Given the description of an element on the screen output the (x, y) to click on. 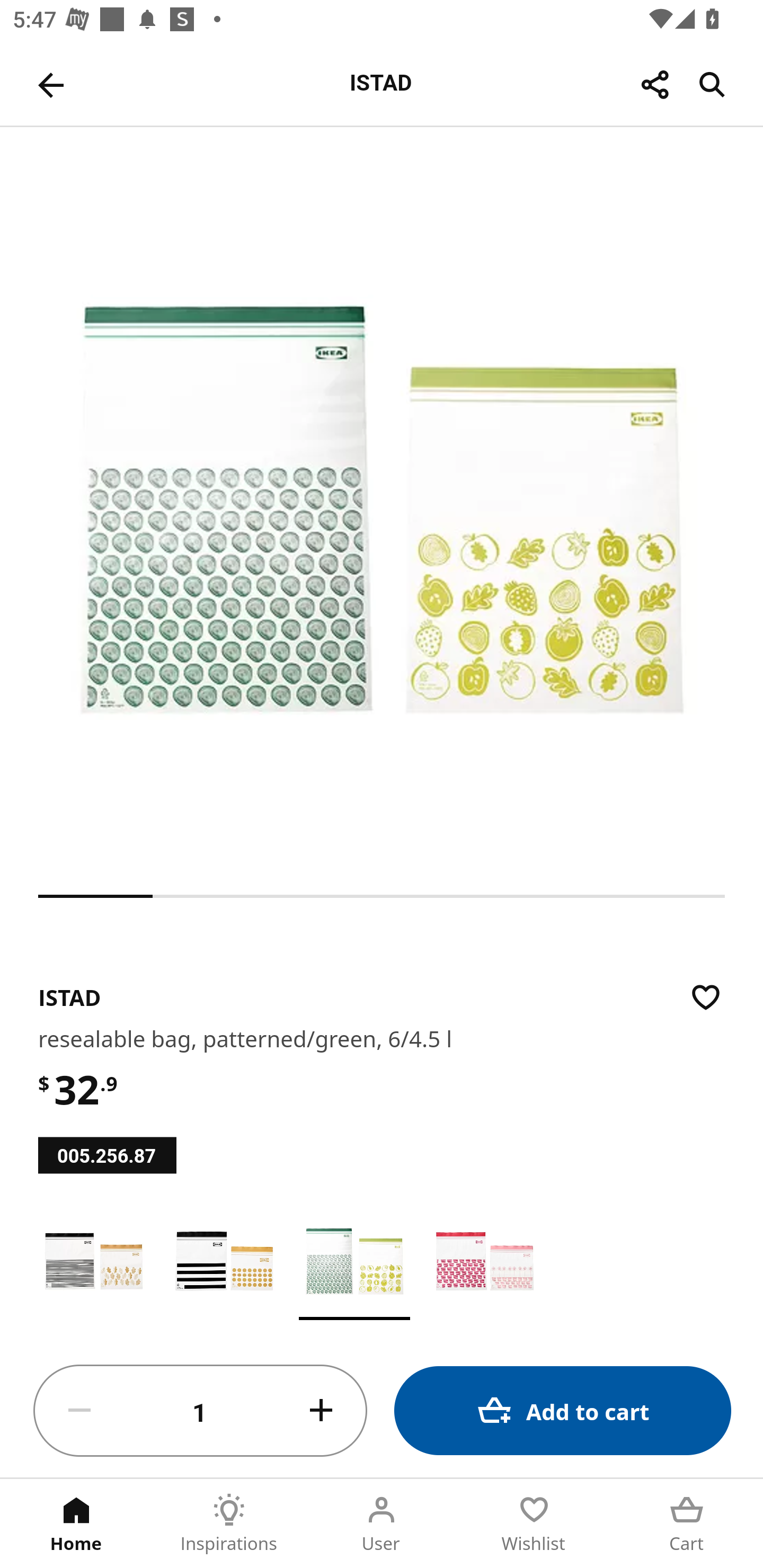
Add to cart (562, 1410)
1 (200, 1411)
Home
Tab 1 of 5 (76, 1522)
Inspirations
Tab 2 of 5 (228, 1522)
User
Tab 3 of 5 (381, 1522)
Wishlist
Tab 4 of 5 (533, 1522)
Cart
Tab 5 of 5 (686, 1522)
